Given the description of an element on the screen output the (x, y) to click on. 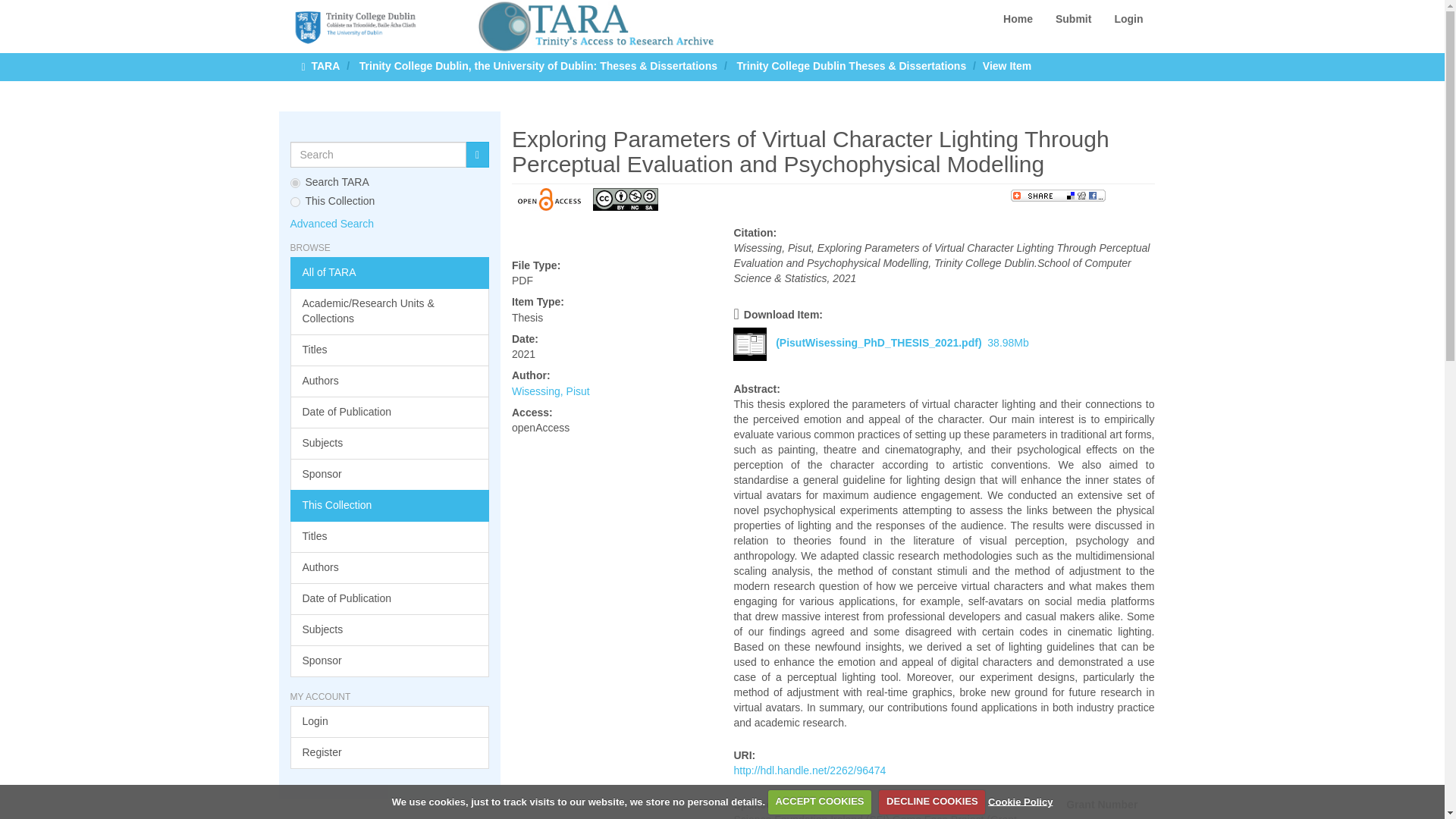
Login (389, 721)
Register (389, 753)
All of TARA (389, 273)
Go (477, 154)
Subjects (389, 443)
Titles (389, 350)
This Collection (389, 505)
Subjects (389, 630)
Home (1017, 18)
Advanced Search (331, 223)
Sponsor (389, 661)
Sponsor (389, 474)
Authors (389, 567)
Date of Publication (389, 599)
